Given the description of an element on the screen output the (x, y) to click on. 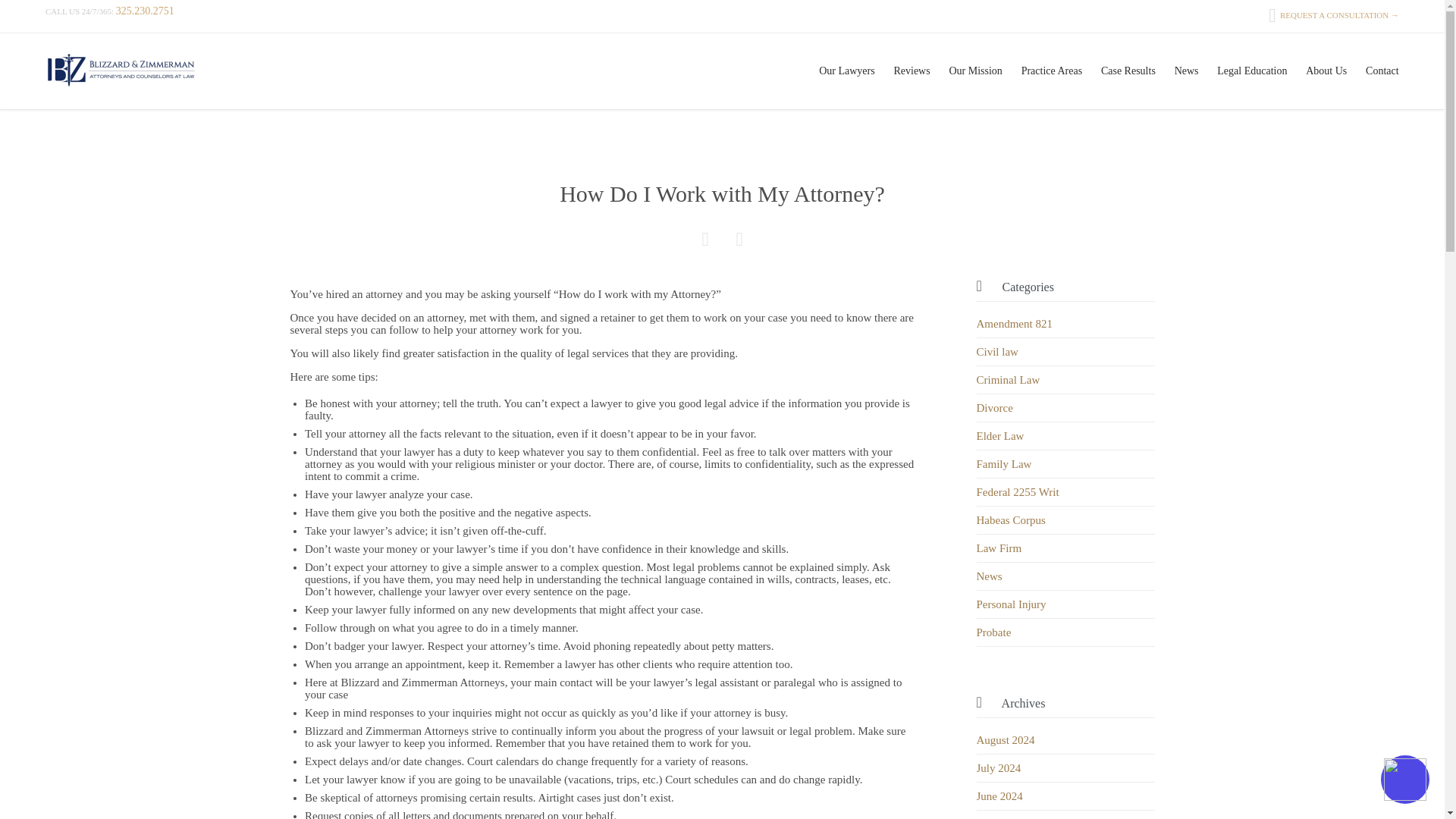
Our Mission (975, 71)
Our Lawyers (846, 71)
Reviews (911, 71)
Practice Areas (1050, 71)
325.230.2751 (145, 10)
